Given the description of an element on the screen output the (x, y) to click on. 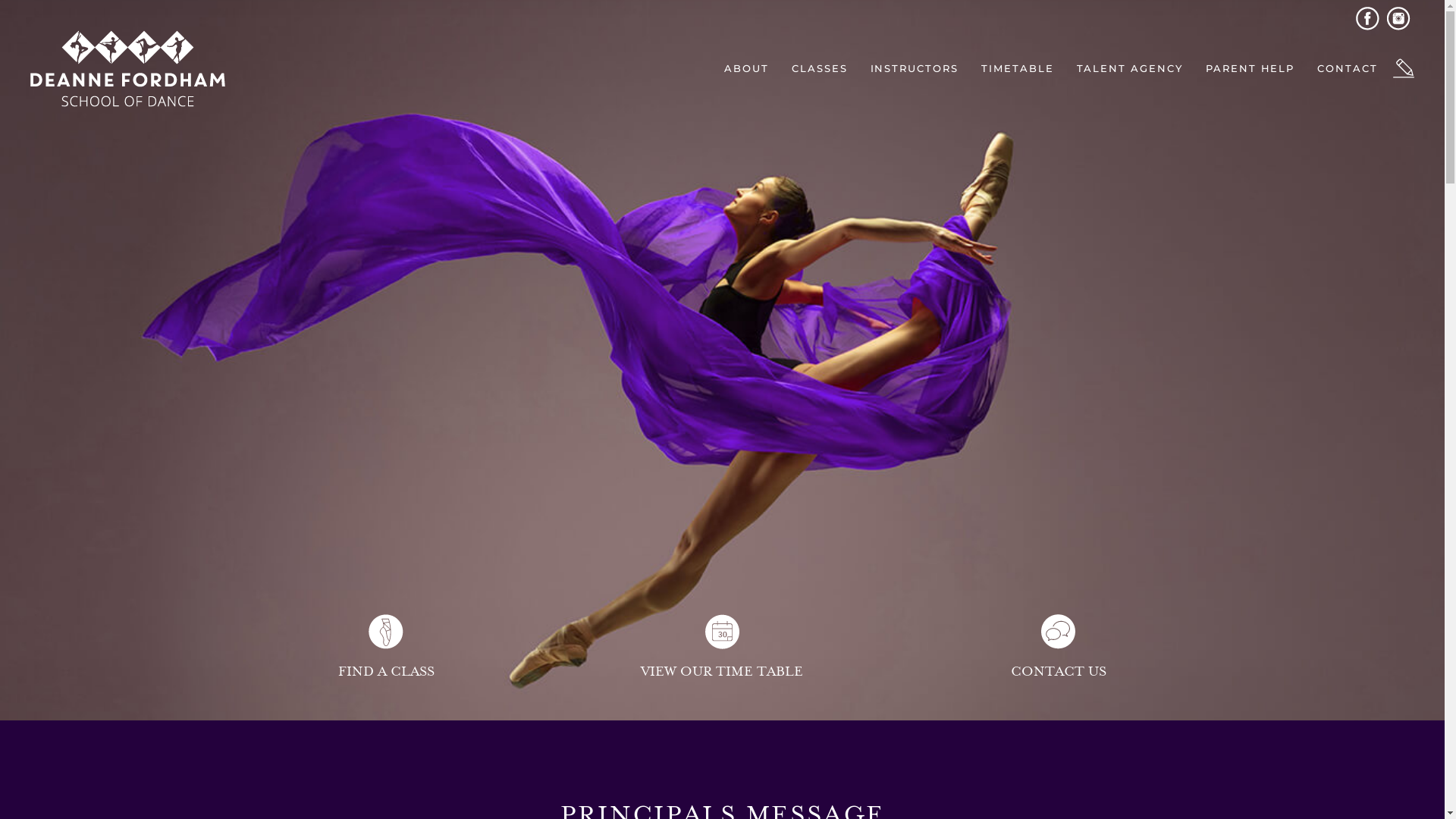
ABOUT Element type: text (746, 68)
CLASSES Element type: text (819, 68)
CONTACT Element type: text (1347, 68)
PARENT HELP Element type: text (1249, 68)
INSTRUCTORS Element type: text (914, 68)
FIND A CLASS Element type: text (385, 648)
TIMETABLE Element type: text (1017, 68)
CONTACT US Element type: text (1057, 648)
TALENT AGENCY Element type: text (1129, 68)
VIEW OUR TIME TABLE Element type: text (721, 648)
